Given the description of an element on the screen output the (x, y) to click on. 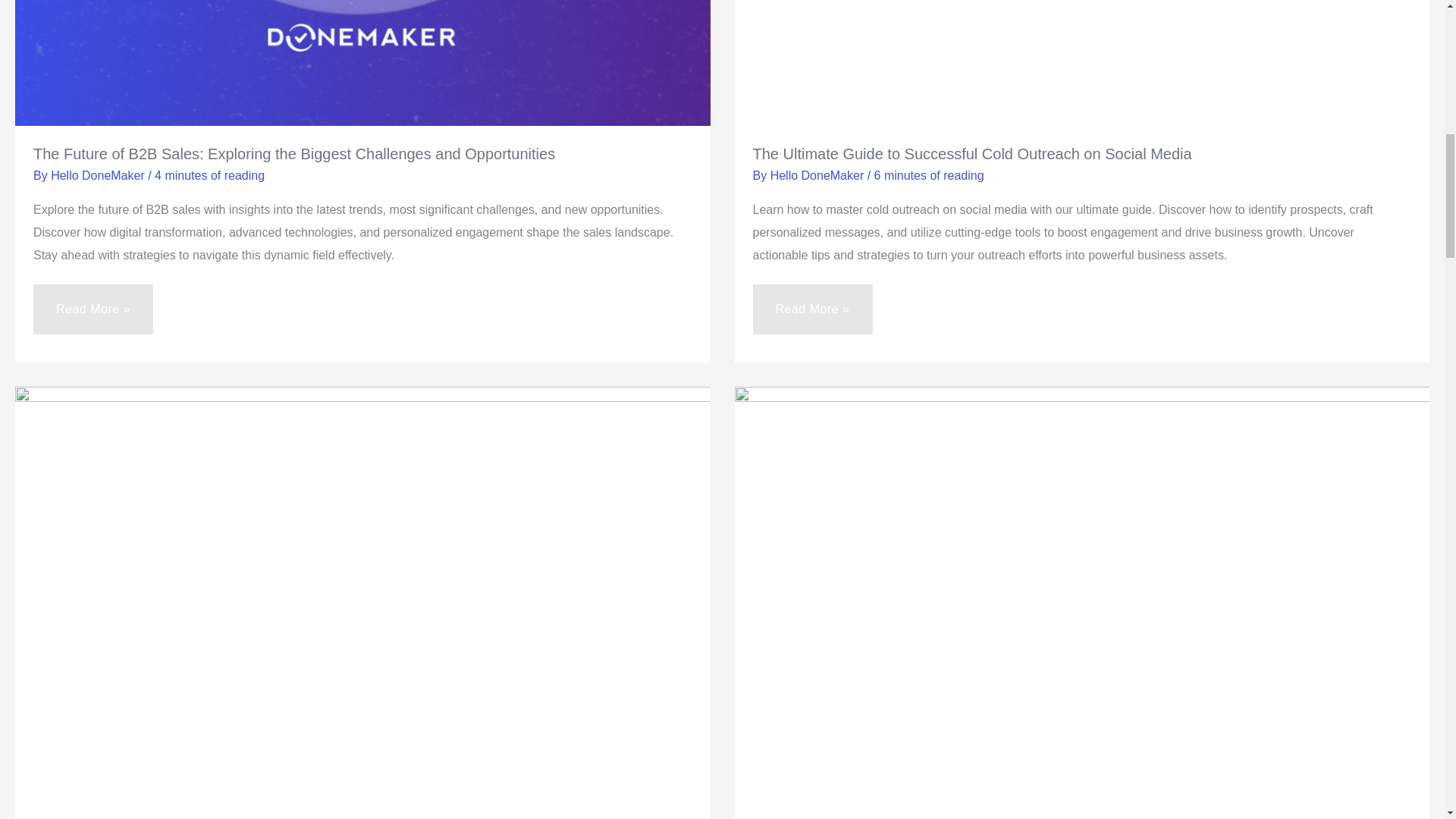
View all posts by Hello DoneMaker (99, 174)
View all posts by Hello DoneMaker (818, 174)
Hello DoneMaker (818, 174)
Hello DoneMaker (99, 174)
